Given the description of an element on the screen output the (x, y) to click on. 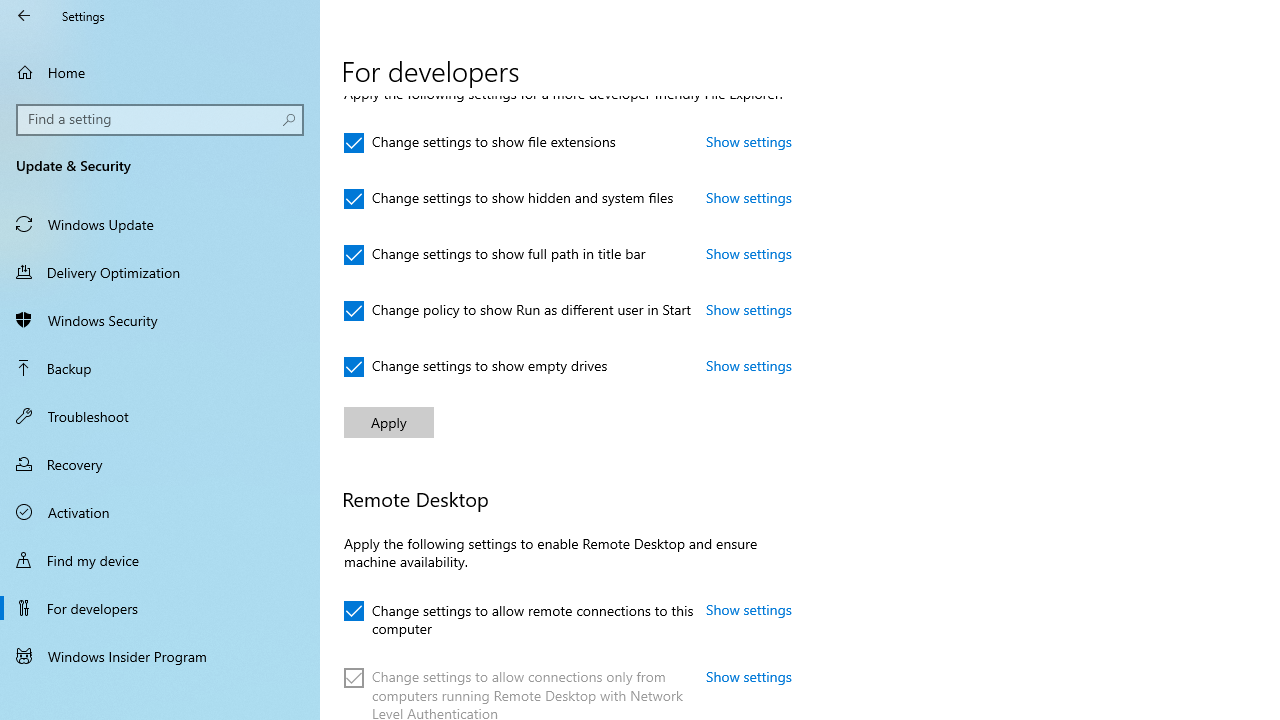
Activation (160, 511)
Find my device (160, 559)
Troubleshoot (160, 415)
For developers (160, 607)
Delivery Optimization (160, 271)
Home (160, 71)
Windows Security (160, 319)
Change policy to show Run as different user in Start (517, 310)
Change settings to show hidden and system files (509, 198)
Change settings to show empty drives (476, 367)
